Given the description of an element on the screen output the (x, y) to click on. 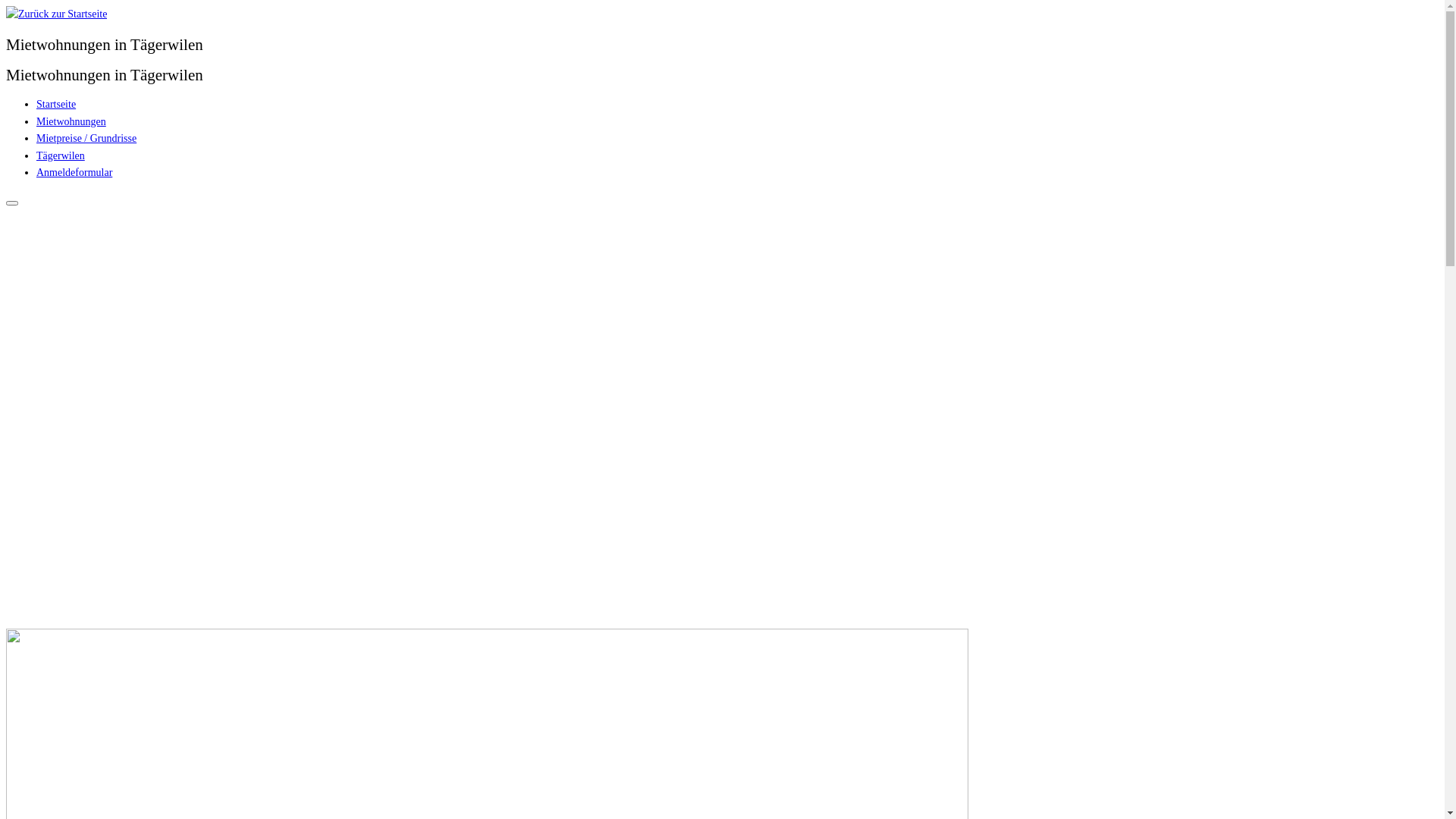
Anmeldeformular Element type: text (74, 172)
Mietwohnungen Element type: text (71, 121)
Startseite Element type: text (55, 103)
Mietpreise / Grundrisse Element type: text (86, 138)
